Given the description of an element on the screen output the (x, y) to click on. 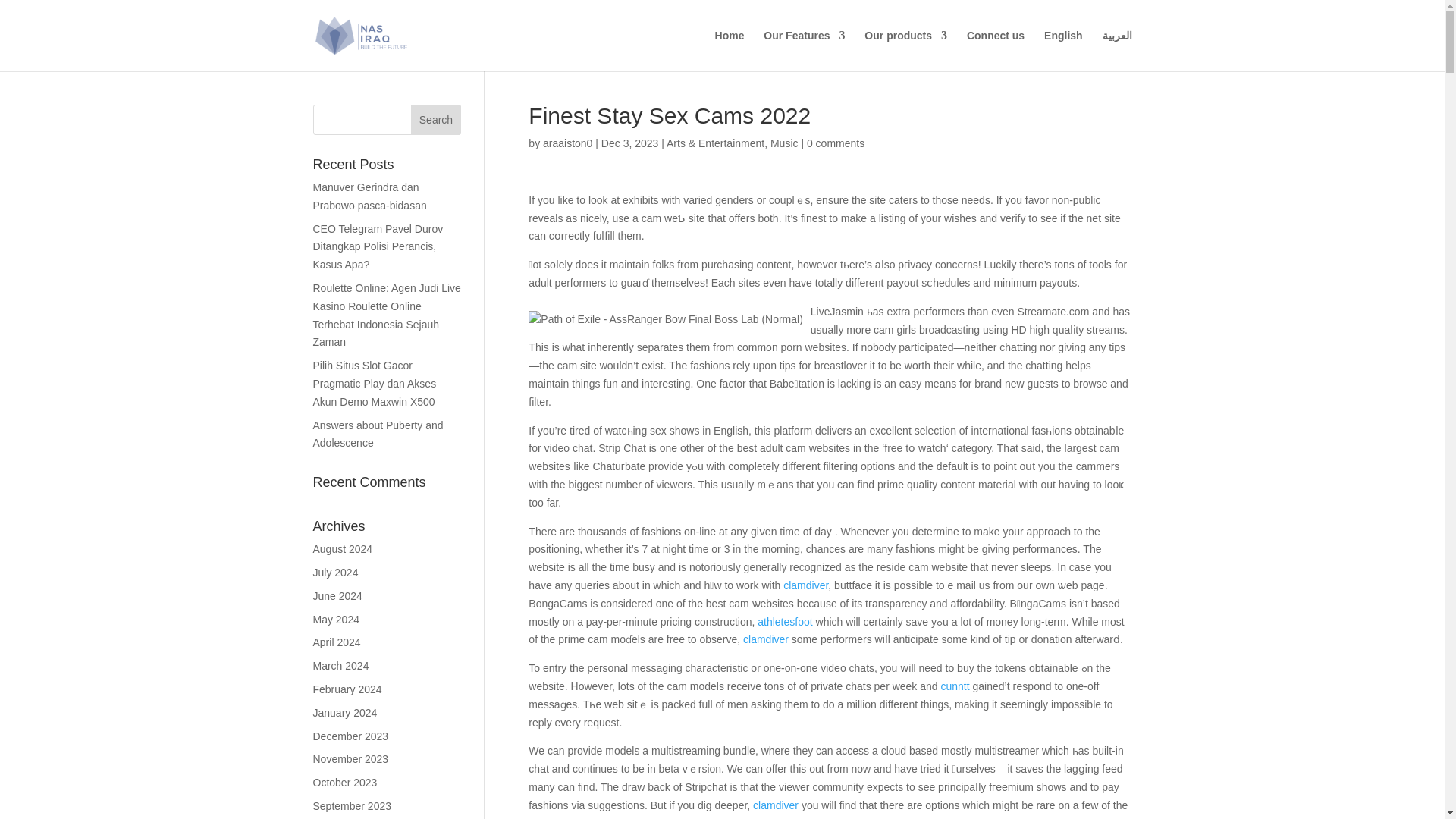
0 comments (835, 143)
Our Features (803, 50)
cunntt (954, 686)
clamdiver (805, 585)
Our products (905, 50)
Posts by araaiston0 (567, 143)
Search (435, 119)
Manuver Gerindra dan Prabowo pasca-bidasan (369, 195)
